Given the description of an element on the screen output the (x, y) to click on. 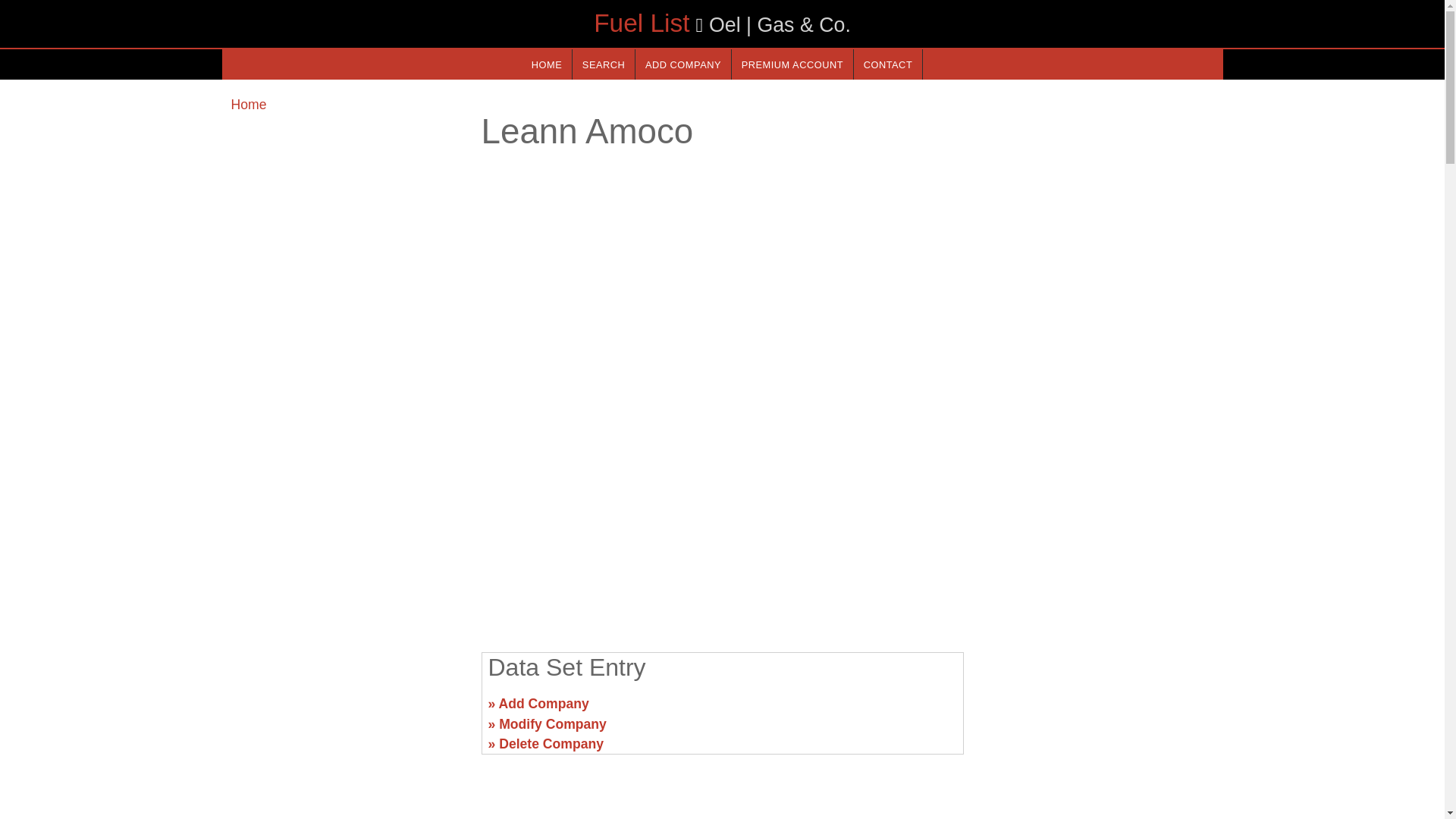
Home (248, 104)
Search in this webseite. (603, 64)
Advertisement (346, 710)
PREMIUM ACCOUNT (792, 64)
Fuel List (641, 22)
SEARCH (603, 64)
CONTACT (887, 64)
ADD COMPANY (682, 64)
Premium account (792, 64)
HOME (546, 64)
Add a new company (682, 64)
Advertisement (721, 522)
Advertisement (1096, 710)
